Given the description of an element on the screen output the (x, y) to click on. 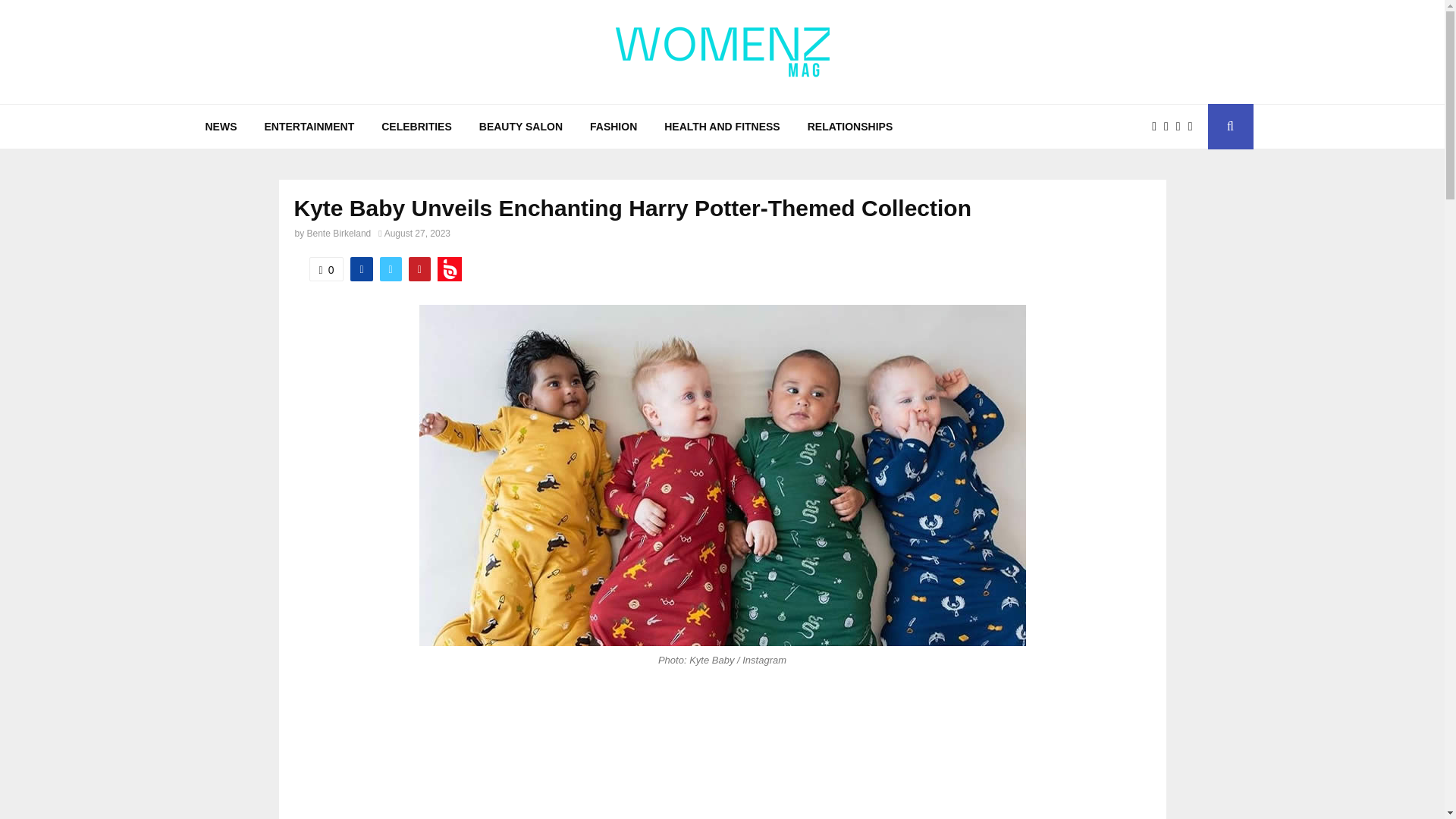
CELEBRITIES (416, 126)
BEAUTY SALON (520, 126)
RELATIONSHIPS (850, 126)
FASHION (613, 126)
Bente Birkeland (339, 233)
Like (325, 269)
Advertisement (722, 759)
HEALTH AND FITNESS (721, 126)
0 (325, 269)
ENTERTAINMENT (309, 126)
NEWS (220, 126)
